Given the description of an element on the screen output the (x, y) to click on. 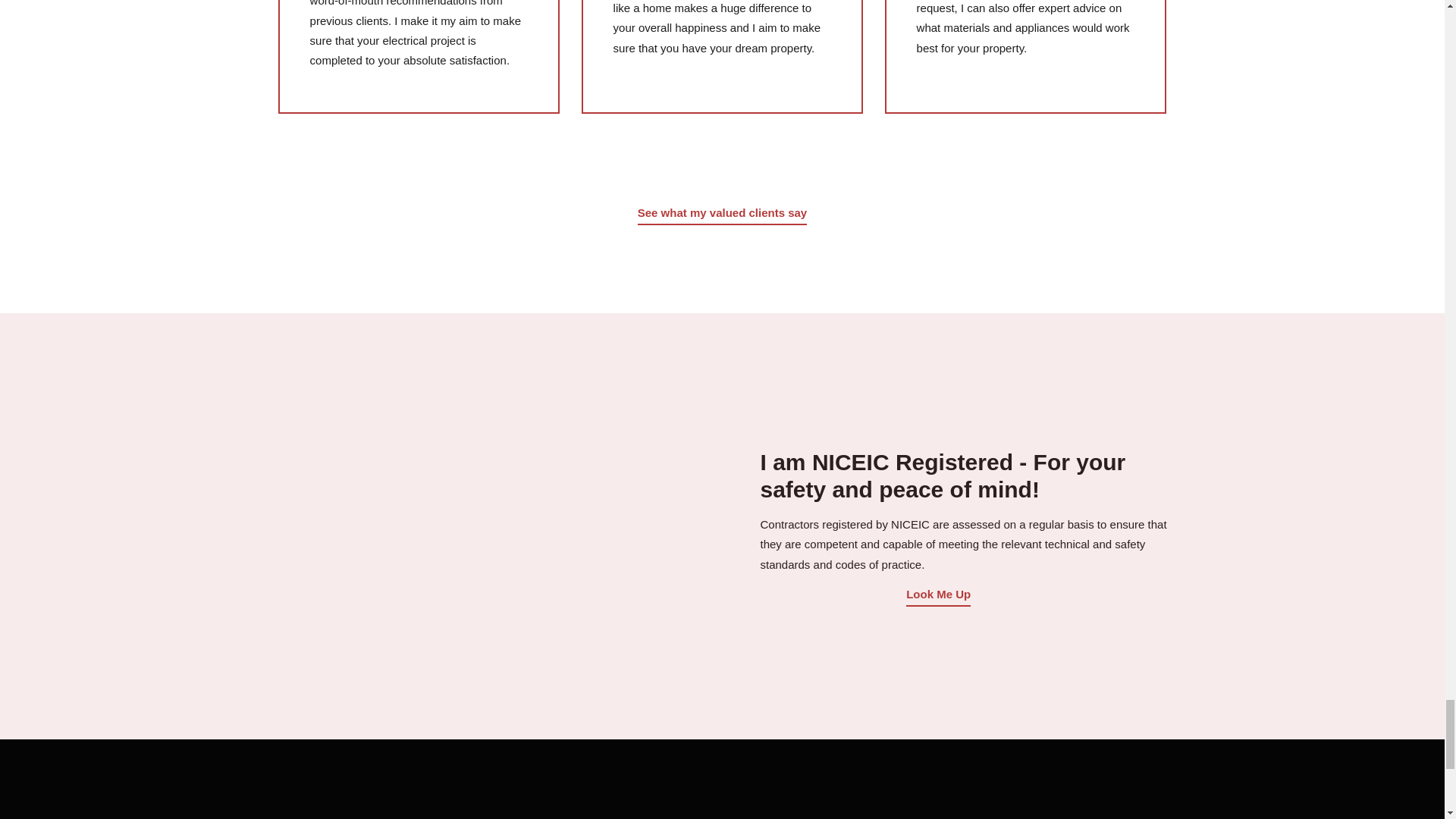
See what my valued clients say (721, 212)
Look Me Up (938, 594)
YouTube video player (494, 526)
